Given the description of an element on the screen output the (x, y) to click on. 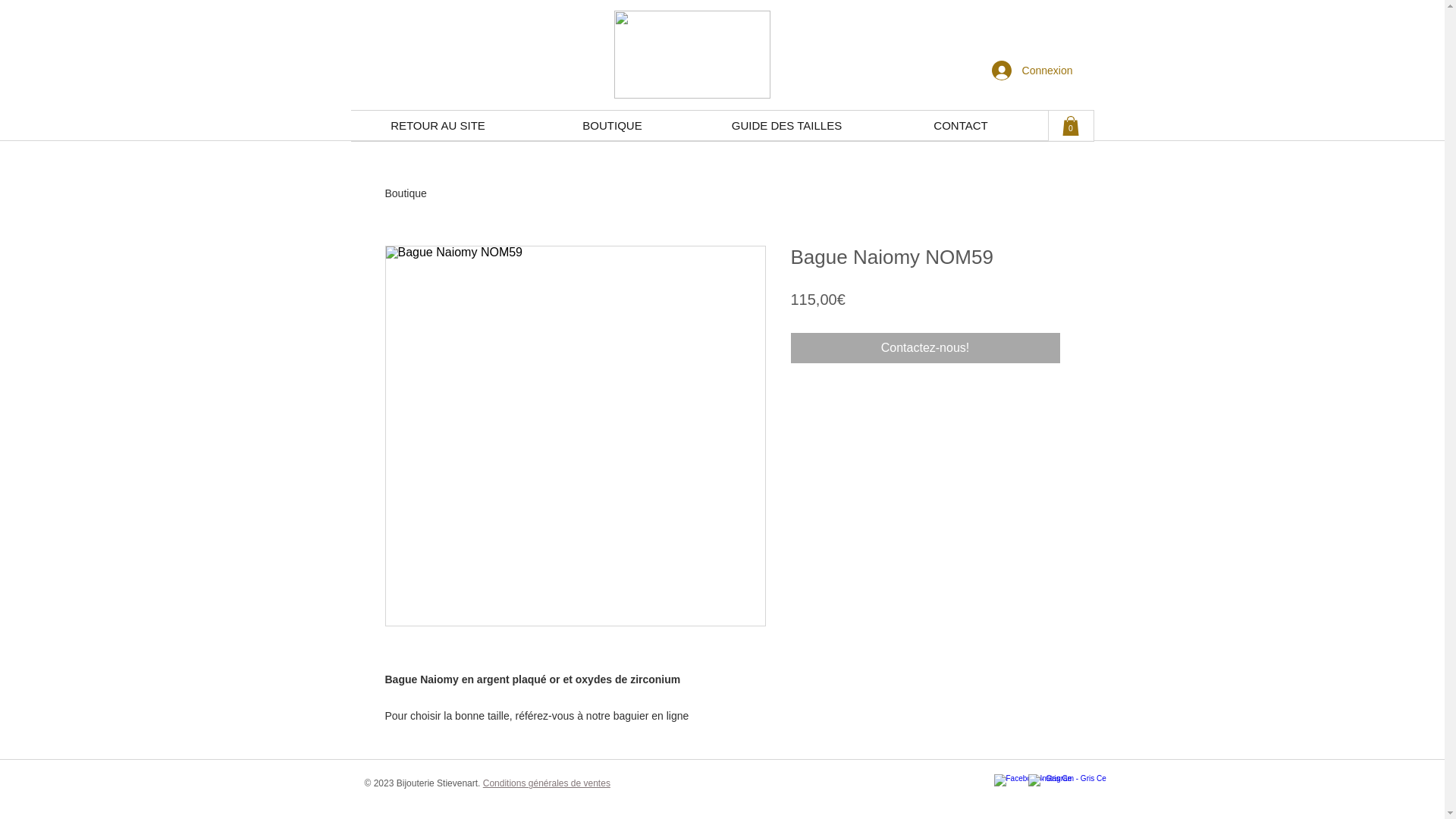
Connexion Element type: text (1032, 70)
0 Element type: text (1069, 125)
Boutique Element type: text (405, 193)
Contactez-nous! Element type: text (924, 347)
GUIDE DES TAILLES Element type: text (786, 125)
bijouterie-horlogerie-stievenart.jpg Element type: hover (692, 54)
BOUTIQUE Element type: text (611, 125)
CONTACT Element type: text (960, 125)
RETOUR AU SITE Element type: text (437, 125)
